Given the description of an element on the screen output the (x, y) to click on. 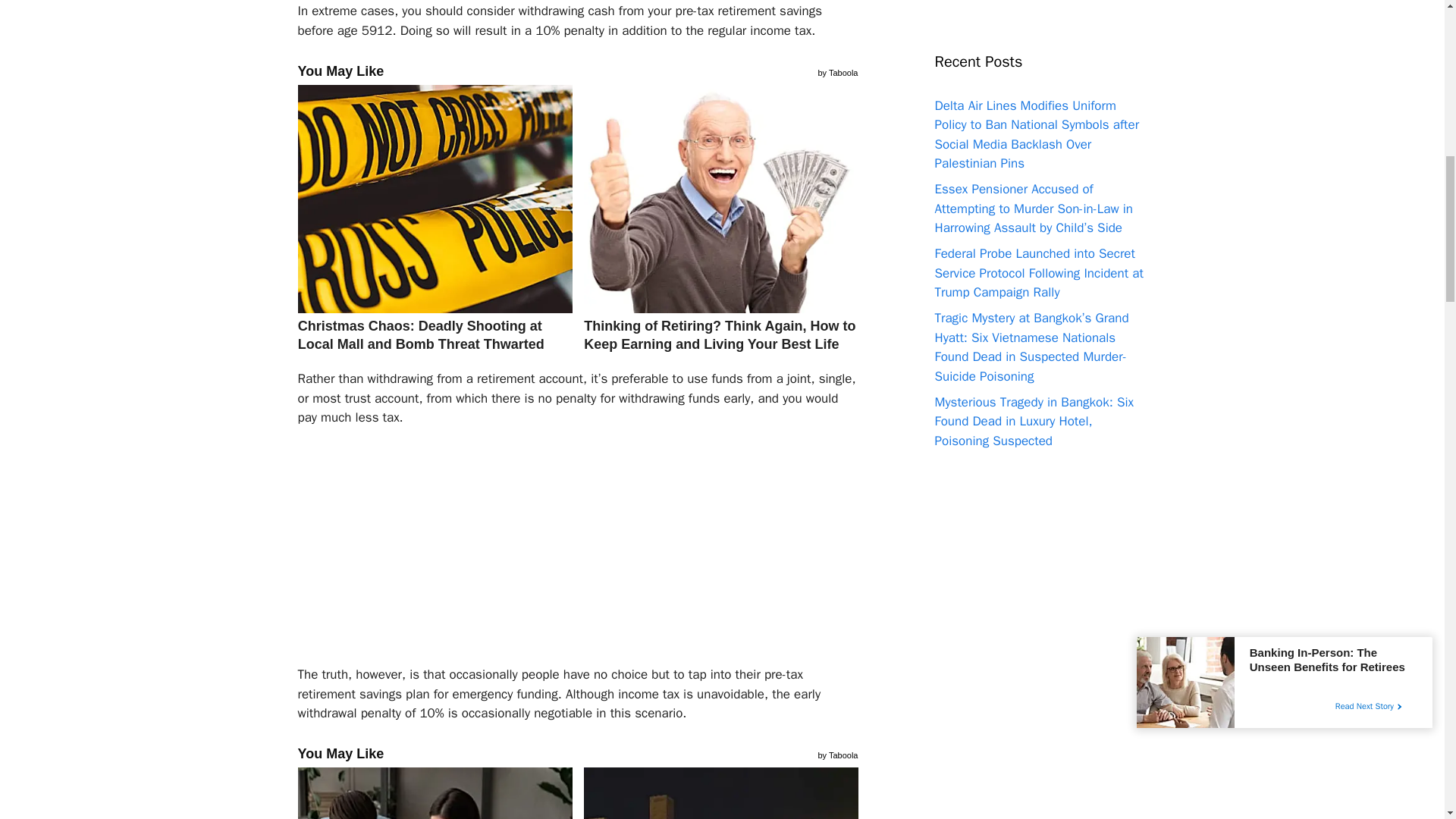
by Taboola (836, 753)
by Taboola (836, 70)
